Given the description of an element on the screen output the (x, y) to click on. 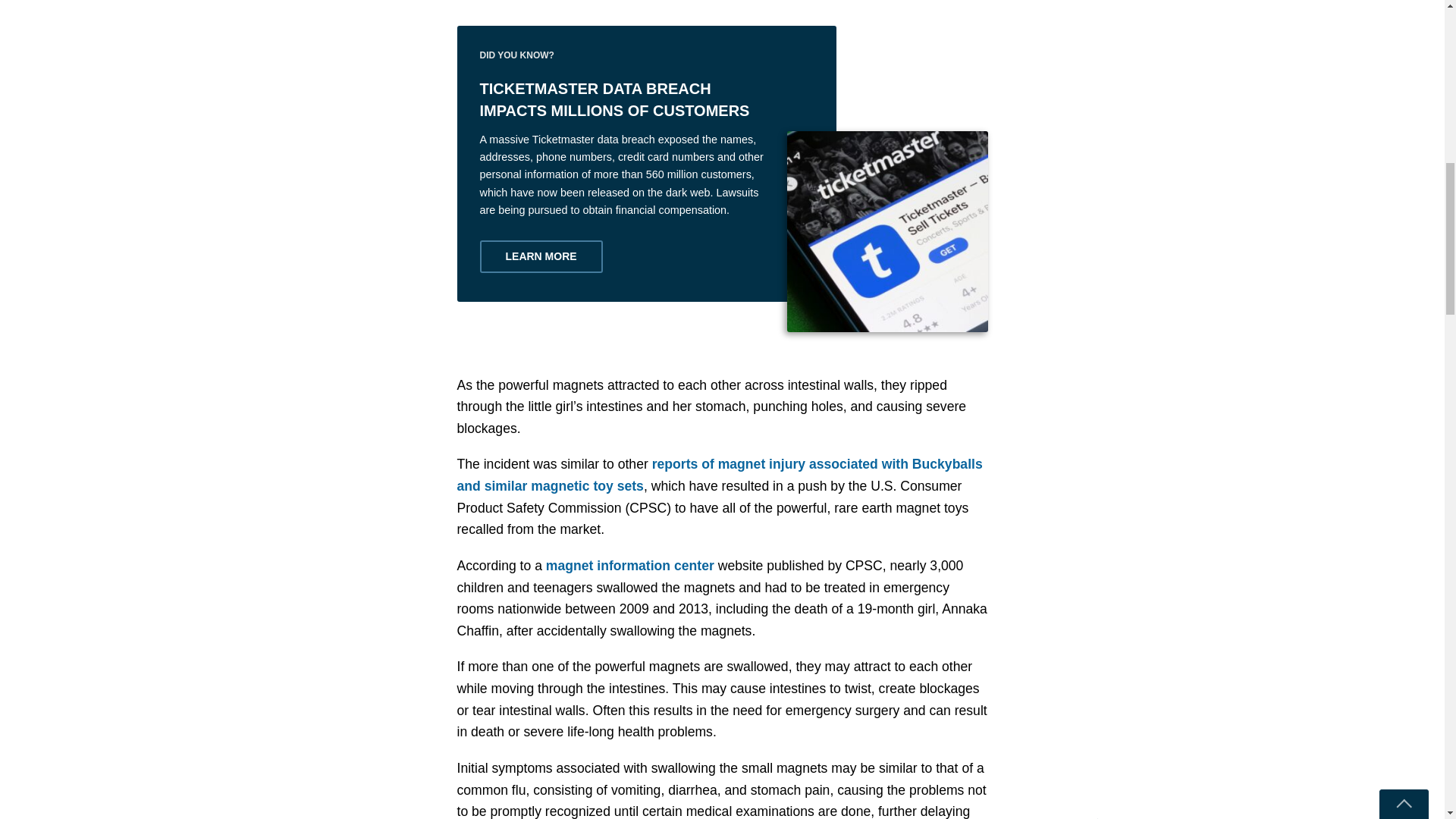
LEARN MORE (540, 256)
magnet information center (630, 565)
